Given the description of an element on the screen output the (x, y) to click on. 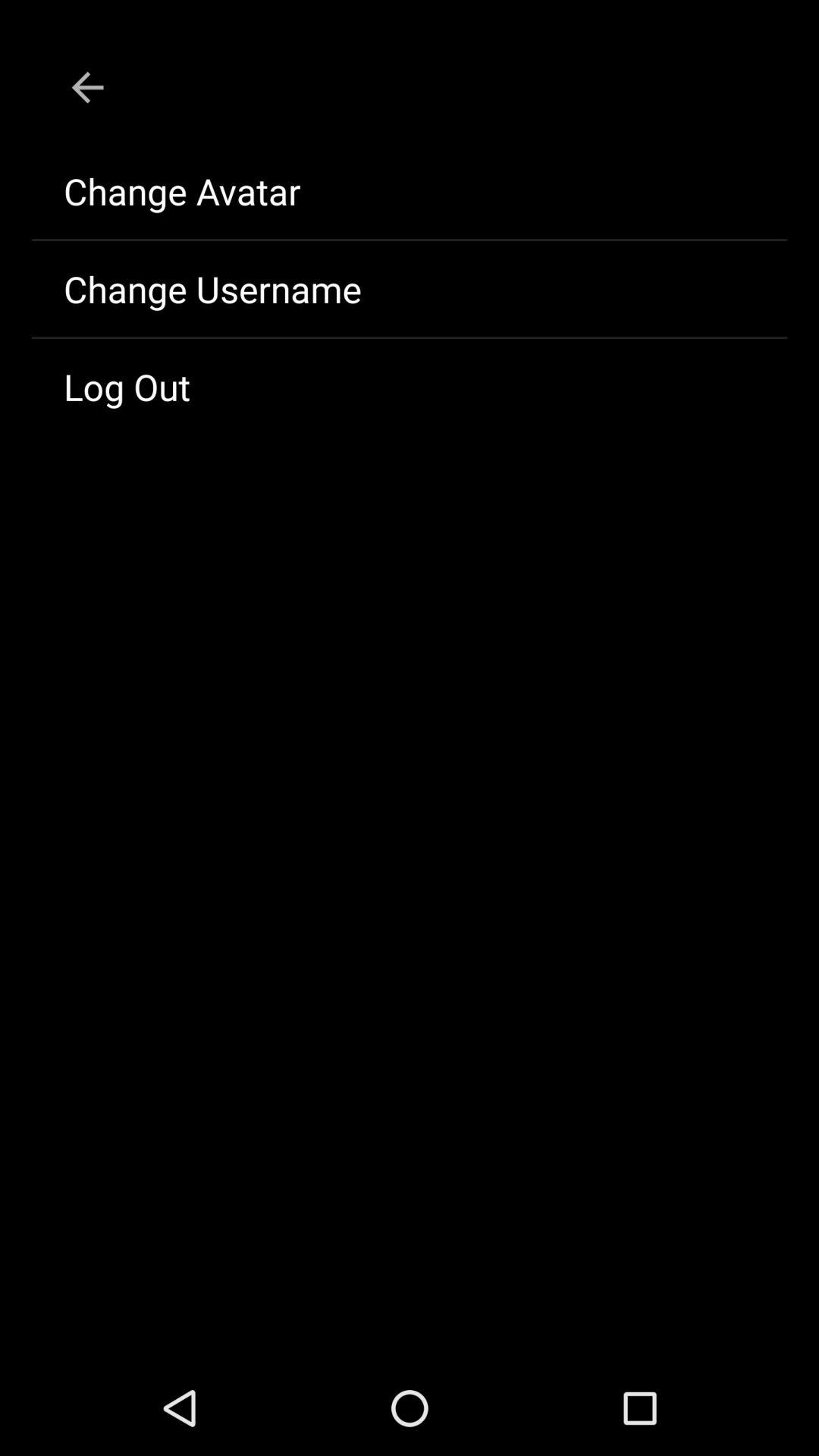
swipe to the log out (409, 386)
